Given the description of an element on the screen output the (x, y) to click on. 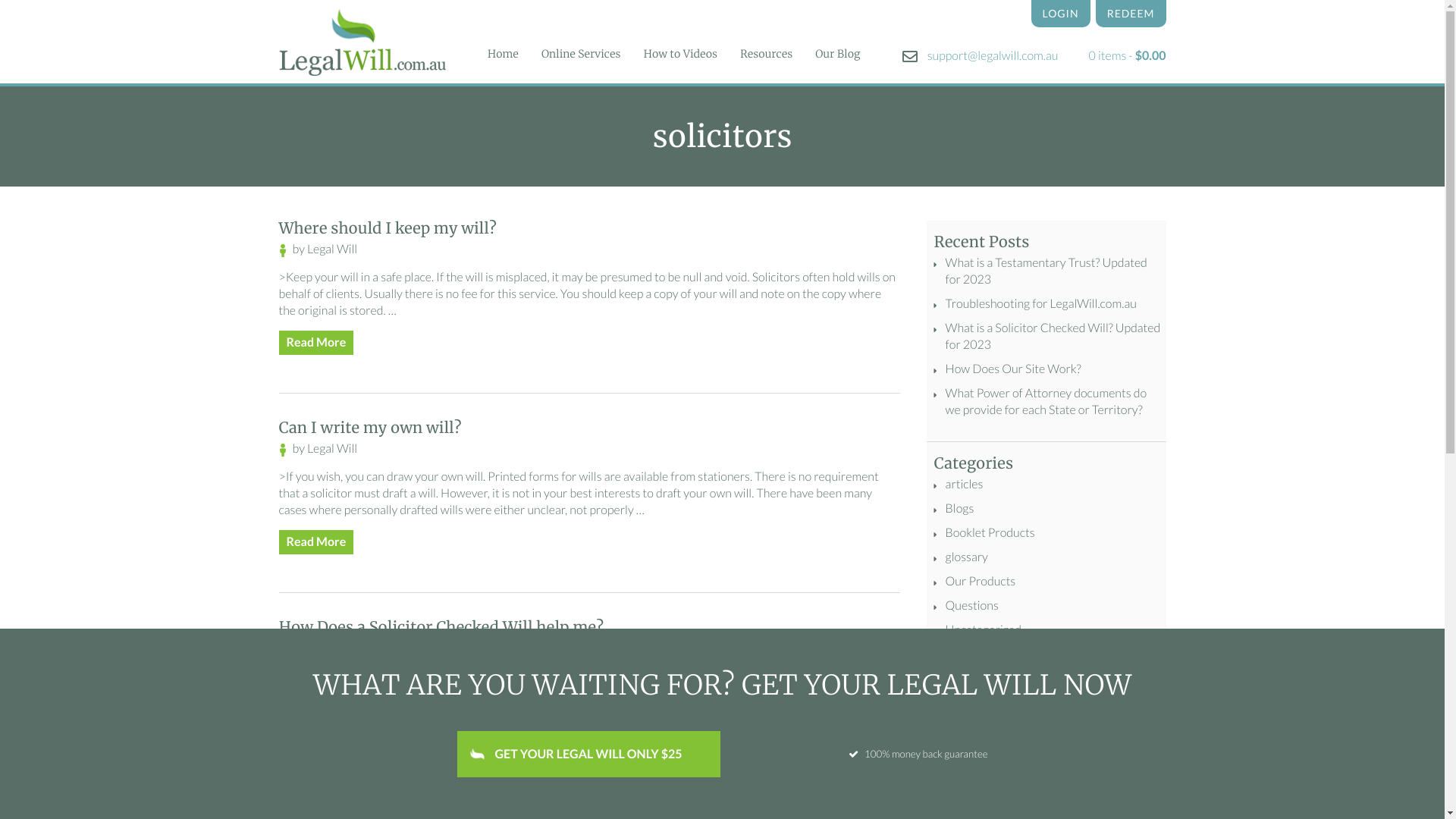
Uncategorized Element type: text (983, 629)
Read More Element type: text (316, 342)
Troubleshooting for LegalWill.com.au Element type: text (1040, 303)
executor Element type: text (1107, 785)
Our Products Element type: text (980, 581)
behalf Element type: text (1005, 724)
support@legalwill.com.au Element type: text (980, 55)
assets Element type: text (1116, 703)
How to Videos Element type: text (680, 54)
death Element type: text (1099, 744)
18 years Element type: text (956, 703)
REDEEM Element type: text (1130, 13)
How Does Our Site Work? Element type: text (1013, 368)
executors Element type: text (959, 806)
appointment Element type: text (1021, 703)
family members Element type: text (1035, 806)
How Does a Solicitor Checked Will help me? Element type: text (441, 627)
beneficiaries Element type: text (1064, 724)
glossary Element type: text (966, 556)
dependants Element type: text (964, 765)
LOGIN Element type: text (1060, 13)
Legal Will Element type: text (332, 448)
enduring power of attorney Element type: text (1004, 785)
Our Blog Element type: text (837, 54)
Home Element type: text (502, 54)
Blogs Element type: text (959, 508)
Resources Element type: text (766, 54)
court Element type: text (1062, 744)
document Element type: text (1101, 765)
Online Services Element type: text (580, 54)
Read More Element type: text (316, 542)
GET YOUR LEGAL WILL ONLY $25 Element type: text (587, 754)
asset Element type: text (1076, 703)
Read More Element type: text (316, 741)
dependents Element type: text (1034, 765)
0 items - $0.00 Element type: text (1127, 55)
Can I write my own will? Element type: text (370, 427)
Where should I keep my will? Element type: text (387, 228)
What is a Solicitor Checked Will? Updated for 2023 Element type: text (1053, 335)
Legal Will Element type: text (332, 647)
Legal Will Element type: text (332, 248)
beneficiary Element type: text (962, 744)
Australia Element type: text (957, 724)
Questions Element type: text (971, 605)
What is a Testamentary Trust? Updated for 2023 Element type: text (1046, 270)
Booklet Products Element type: text (990, 532)
change Element type: text (1019, 744)
articles Element type: text (964, 483)
